Given the description of an element on the screen output the (x, y) to click on. 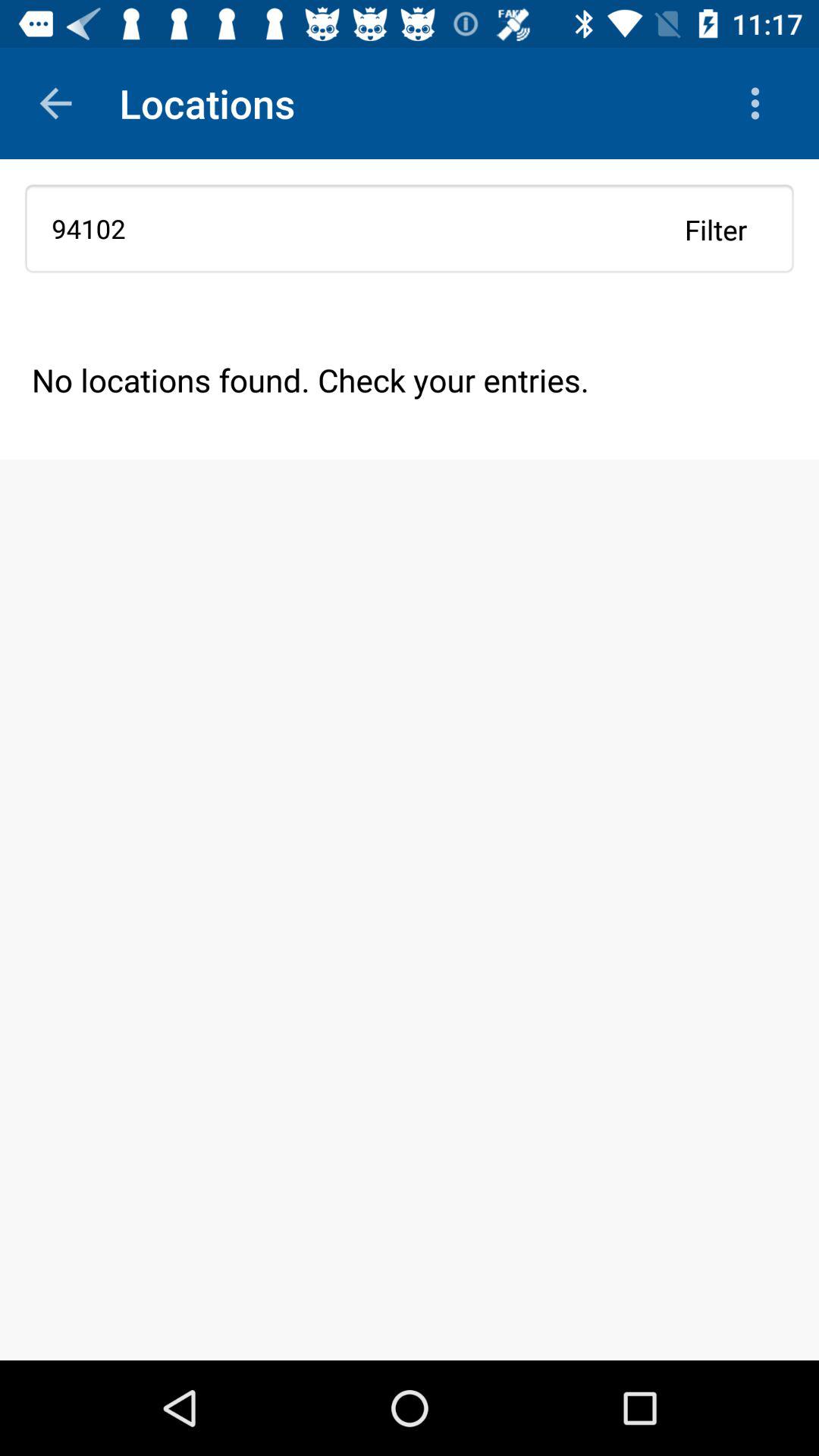
choose icon to the left of the locations item (55, 103)
